Given the description of an element on the screen output the (x, y) to click on. 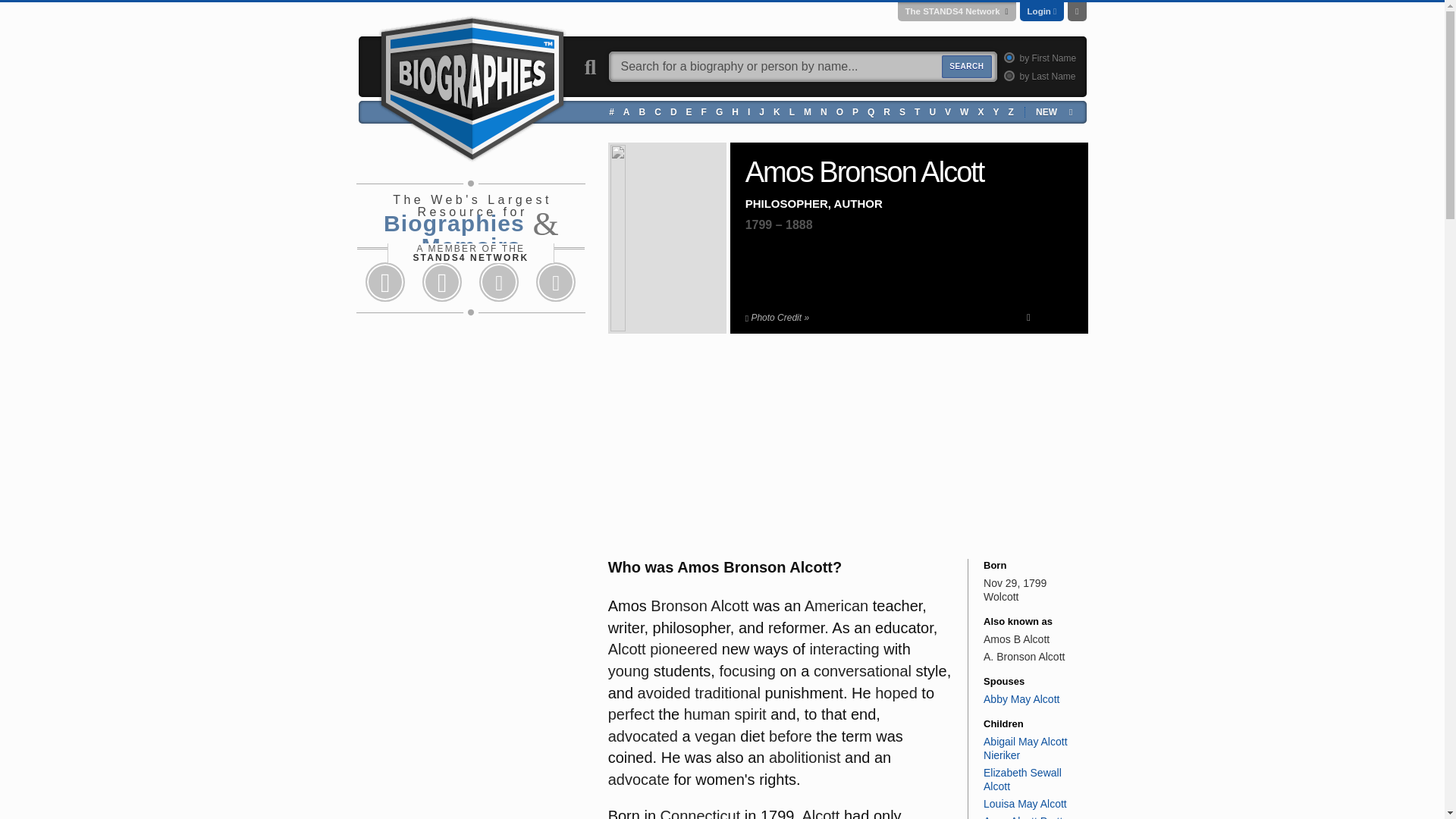
Share this page on Facebook (384, 282)
Share this page on Twitter (441, 282)
Biographies.net (471, 86)
Login (1039, 10)
1 (1007, 57)
Advertisement (973, 451)
SEARCH (966, 66)
Advertisement (721, 451)
2 (1007, 75)
Share this page on Reddit (498, 282)
